Given the description of an element on the screen output the (x, y) to click on. 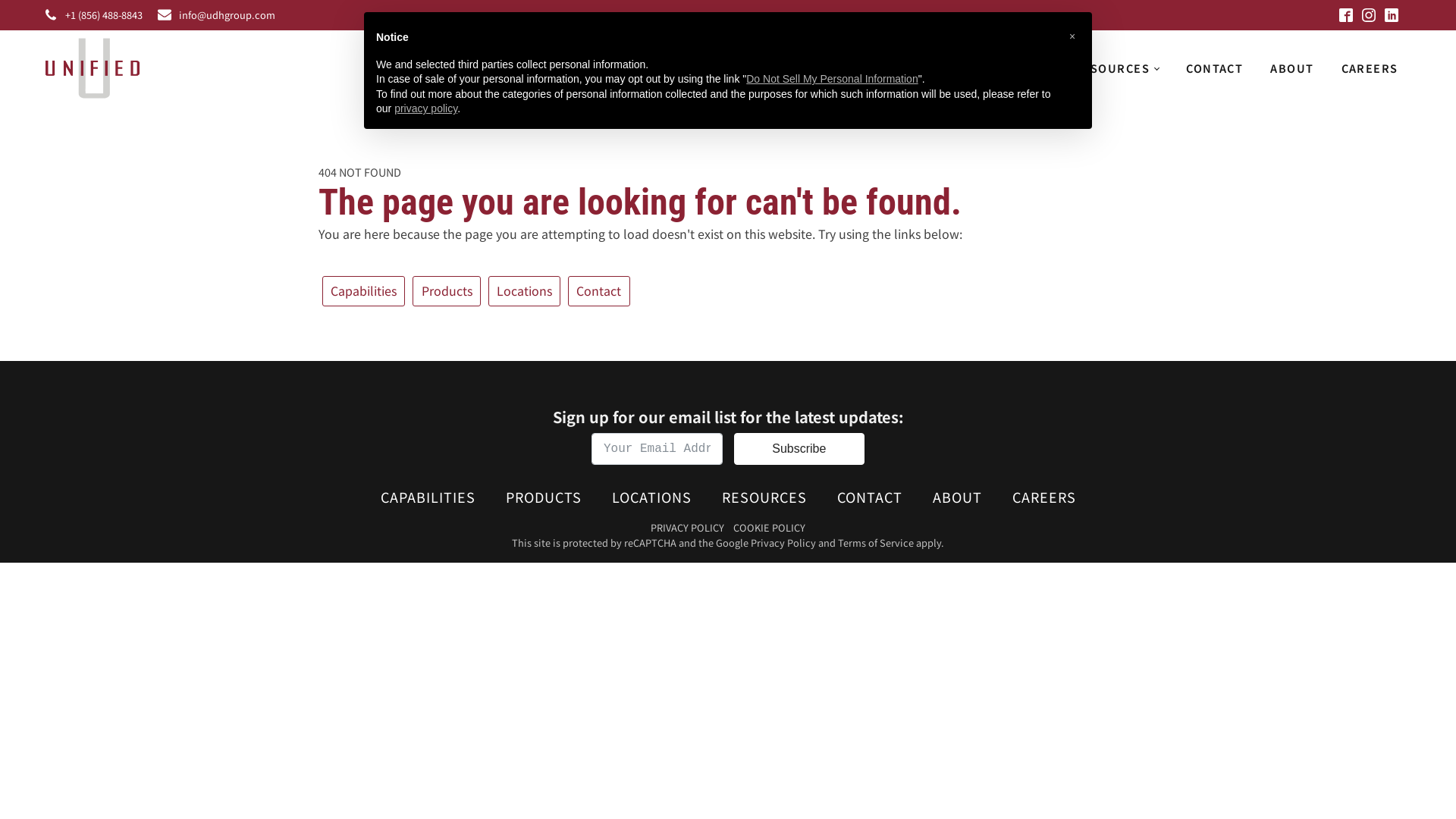
Contact Element type: text (598, 291)
CAPABILITIES Element type: text (428, 497)
ABOUT Element type: text (957, 497)
RESOURCES Element type: text (1115, 67)
Products Element type: text (446, 291)
LOCATIONS Element type: text (650, 497)
RESOURCES Element type: text (764, 497)
privacy policy Element type: text (425, 108)
PRIVACY POLICY Element type: text (687, 527)
CAREERS Element type: text (1043, 497)
Do Not Sell My Personal Information Element type: text (831, 78)
Subscribe Element type: text (799, 448)
PRODUCTS Element type: text (915, 67)
info@udhgroup.com Element type: text (226, 14)
CONTACT Element type: text (1214, 67)
COOKIE POLICY Element type: text (769, 527)
CAPABILITIES Element type: text (806, 67)
PRODUCTS Element type: text (542, 497)
Terms of Service Element type: text (875, 542)
+1 (856) 488-8843 Element type: text (103, 14)
ABOUT Element type: text (1291, 67)
Privacy Policy Element type: text (782, 542)
Locations Element type: text (524, 291)
Capabilities Element type: text (363, 291)
CONTACT Element type: text (869, 497)
LOCATIONS Element type: text (1010, 67)
CAREERS Element type: text (1369, 67)
